Given the description of an element on the screen output the (x, y) to click on. 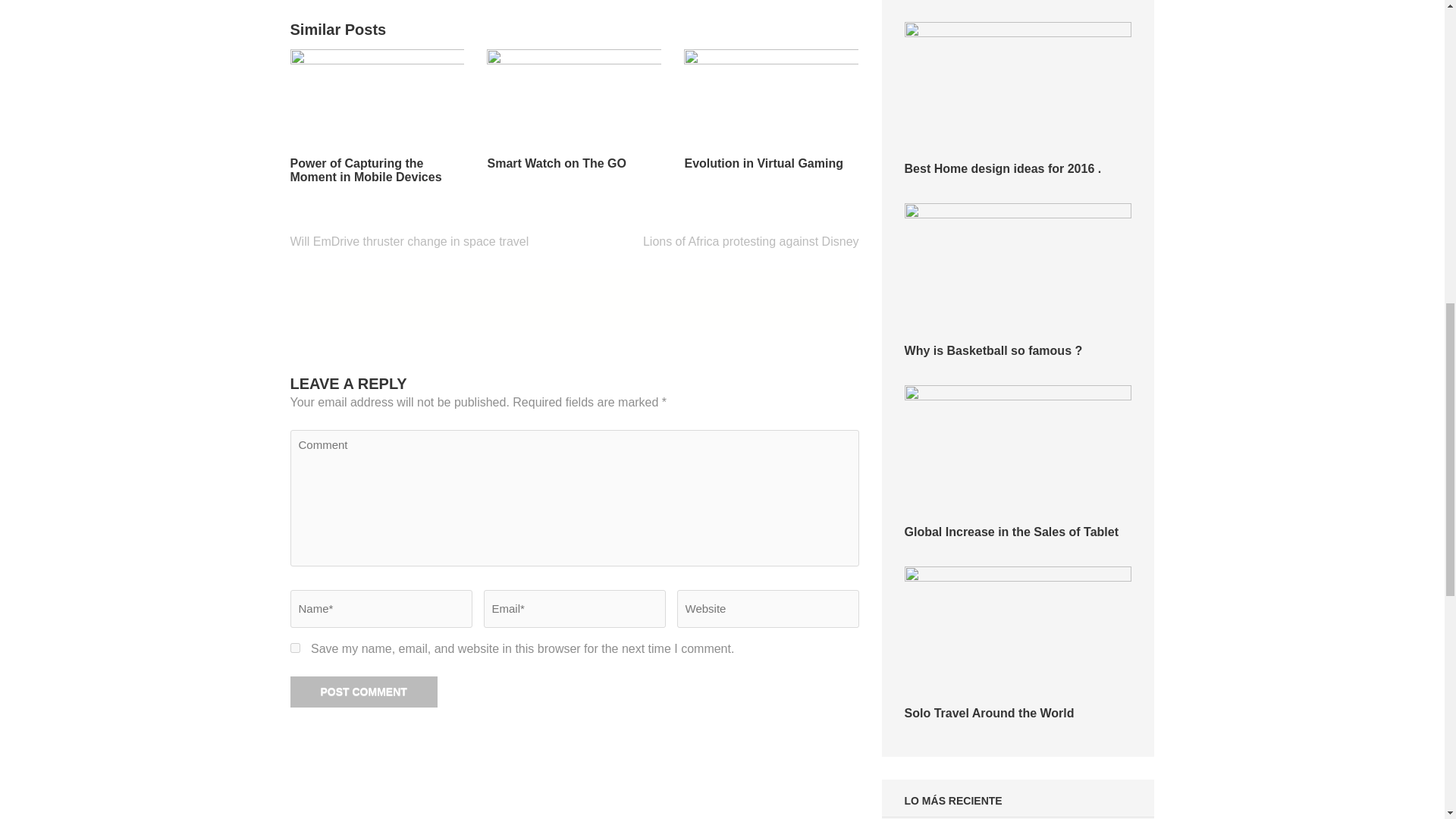
yes (294, 647)
Post Comment (362, 691)
